Given the description of an element on the screen output the (x, y) to click on. 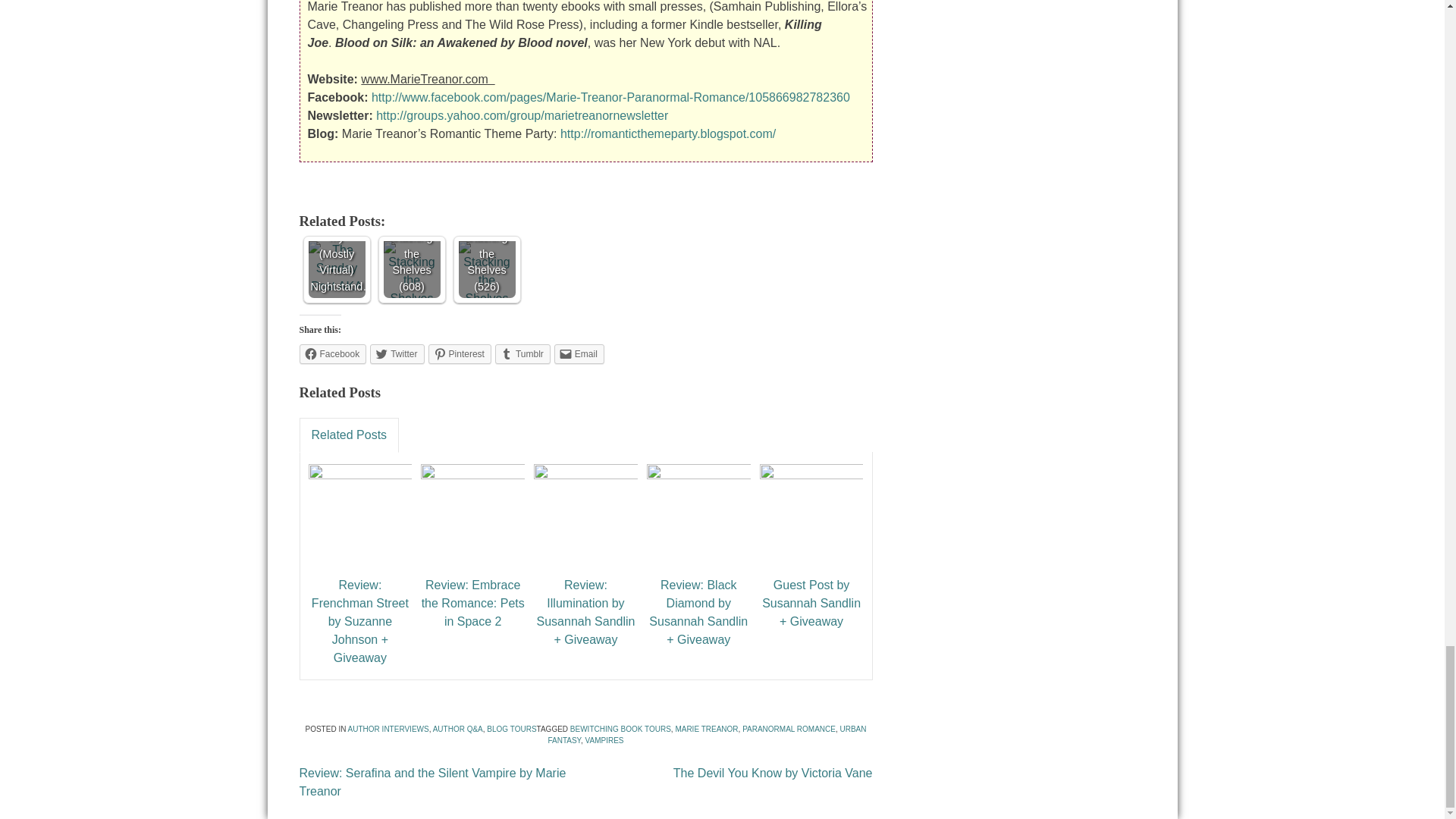
Pinterest (460, 353)
Click to email a link to a friend (579, 353)
Review: Embrace the Romance: Pets in Space 2 (472, 603)
Click to share on Twitter (396, 353)
Tumblr (522, 353)
Facebook (332, 353)
Click to share on Pinterest (460, 353)
Email (579, 353)
Click to share on Tumblr (522, 353)
Click to share on Facebook (332, 353)
Twitter (396, 353)
Related Posts (348, 435)
